Given the description of an element on the screen output the (x, y) to click on. 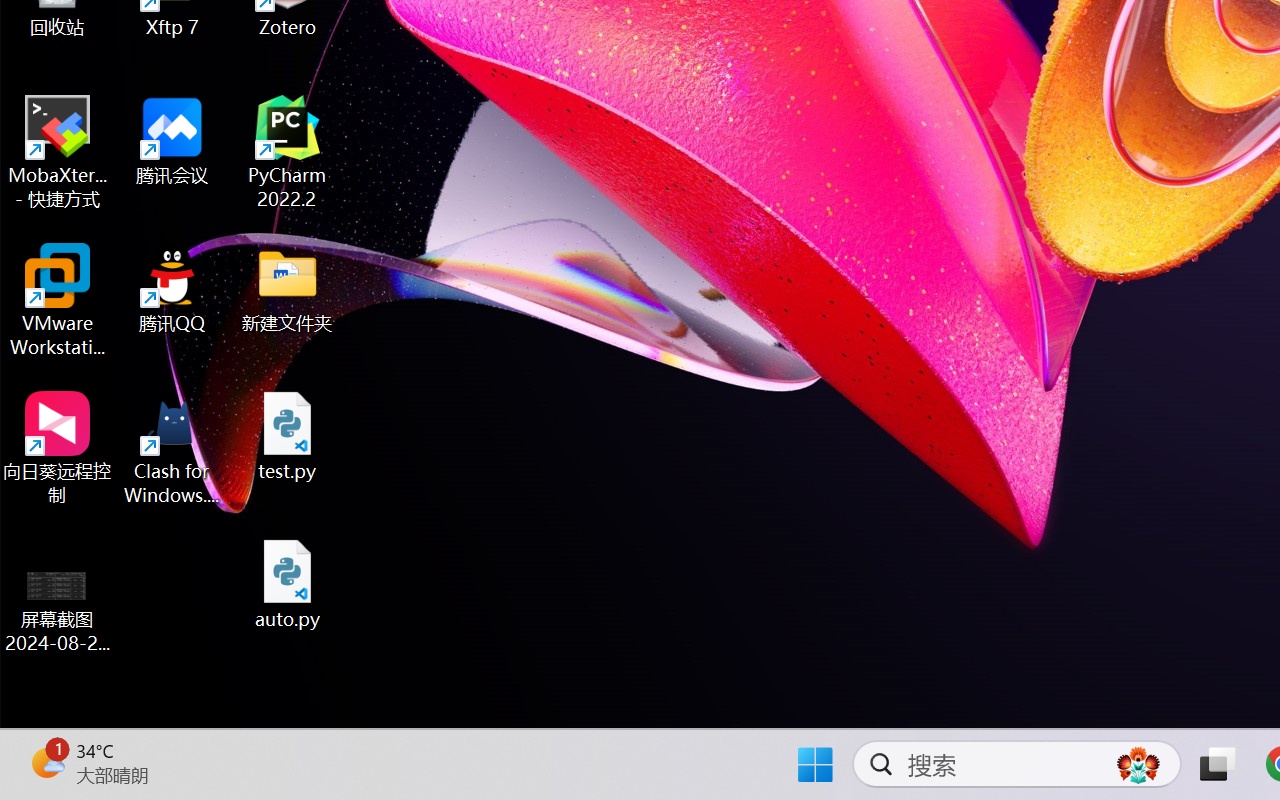
test.py (287, 436)
PyCharm 2022.2 (287, 152)
auto.py (287, 584)
VMware Workstation Pro (57, 300)
